Given the description of an element on the screen output the (x, y) to click on. 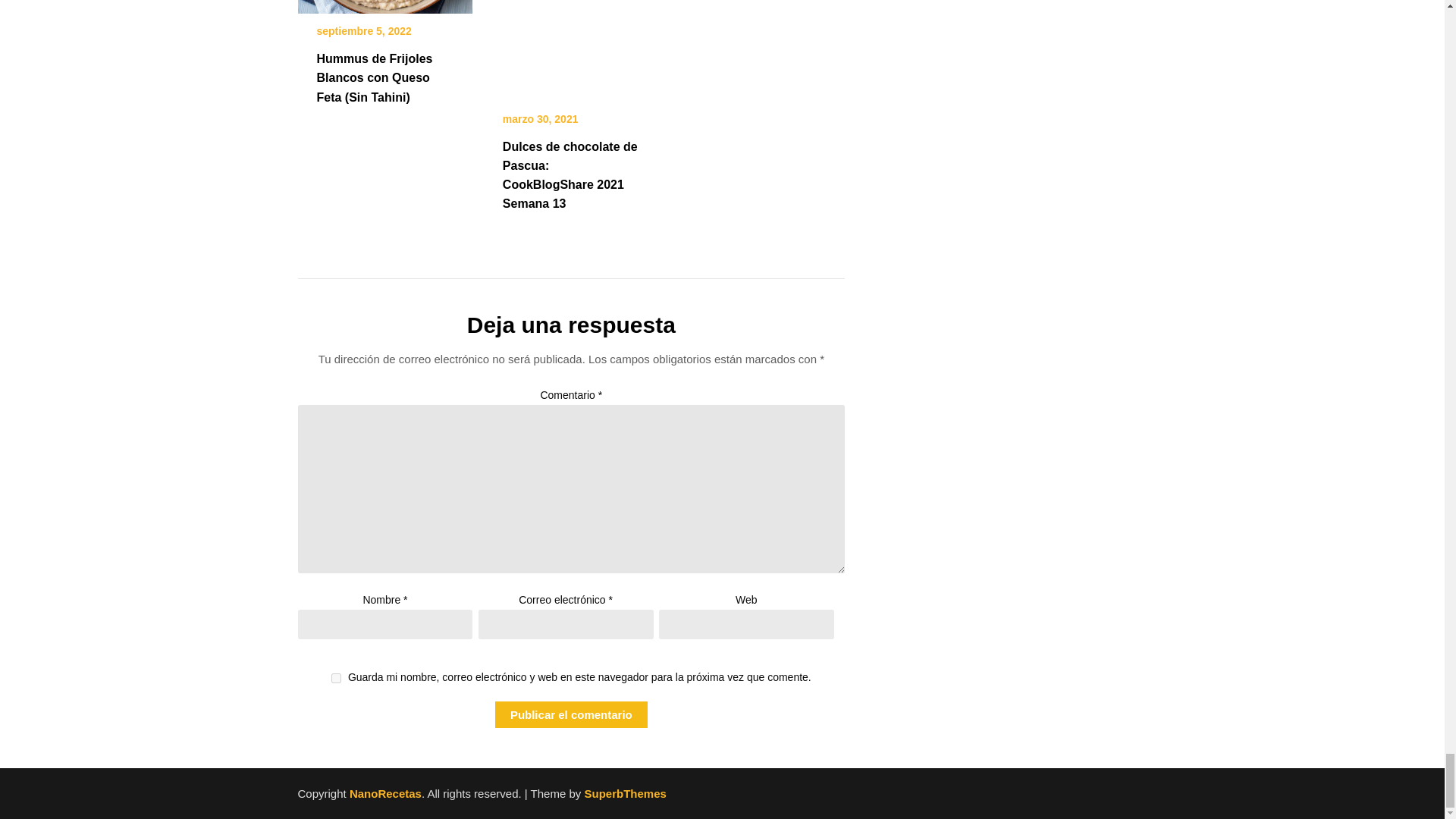
Publicar el comentario (571, 714)
Dulces de chocolate de Pascua: CookBlogShare 2021 Semana 13 (569, 175)
yes (335, 678)
NanoRecetas (385, 793)
Publicar el comentario (571, 714)
SuperbThemes (624, 793)
